Given the description of an element on the screen output the (x, y) to click on. 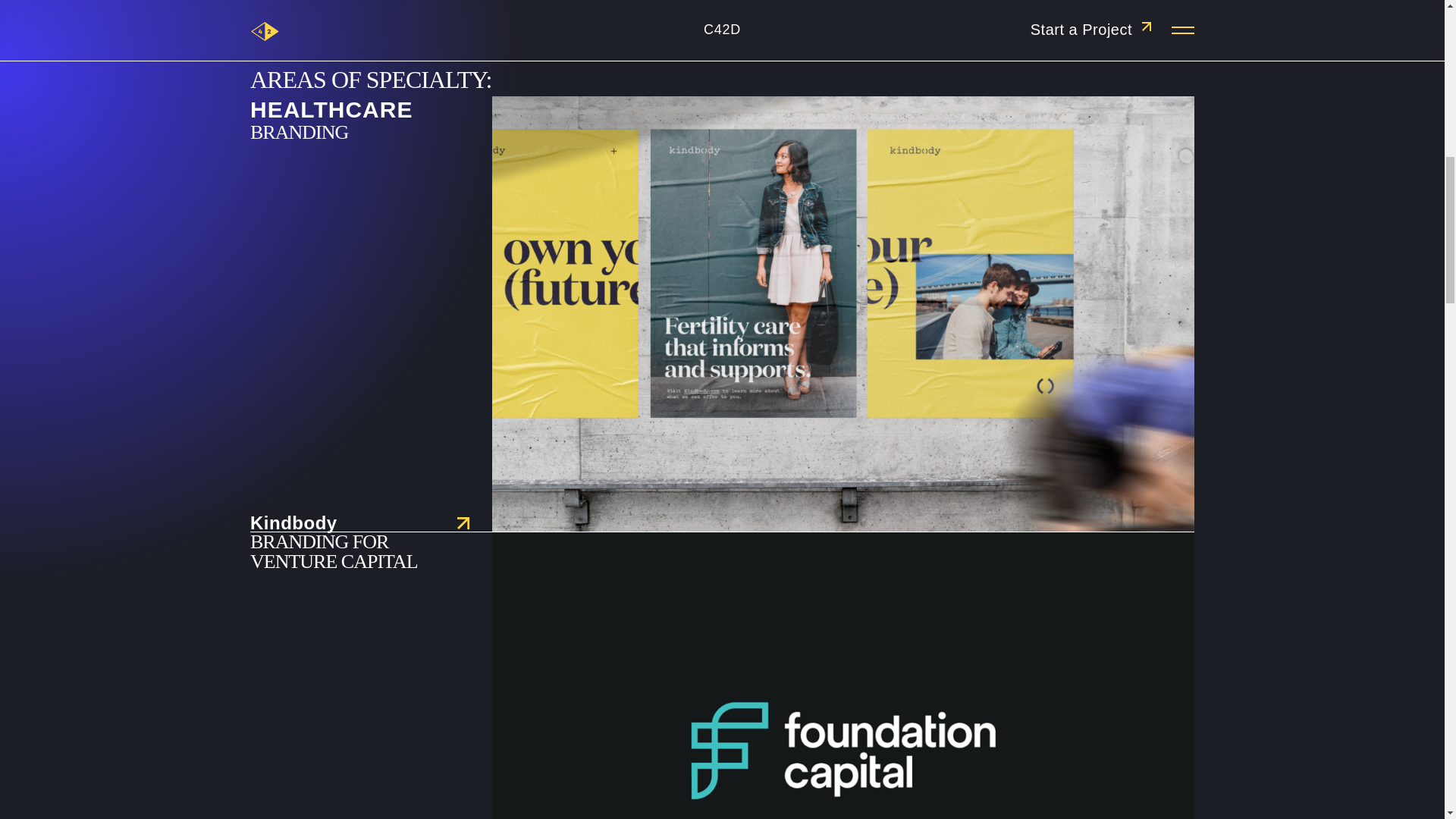
Kindbody (359, 523)
